Given the description of an element on the screen output the (x, y) to click on. 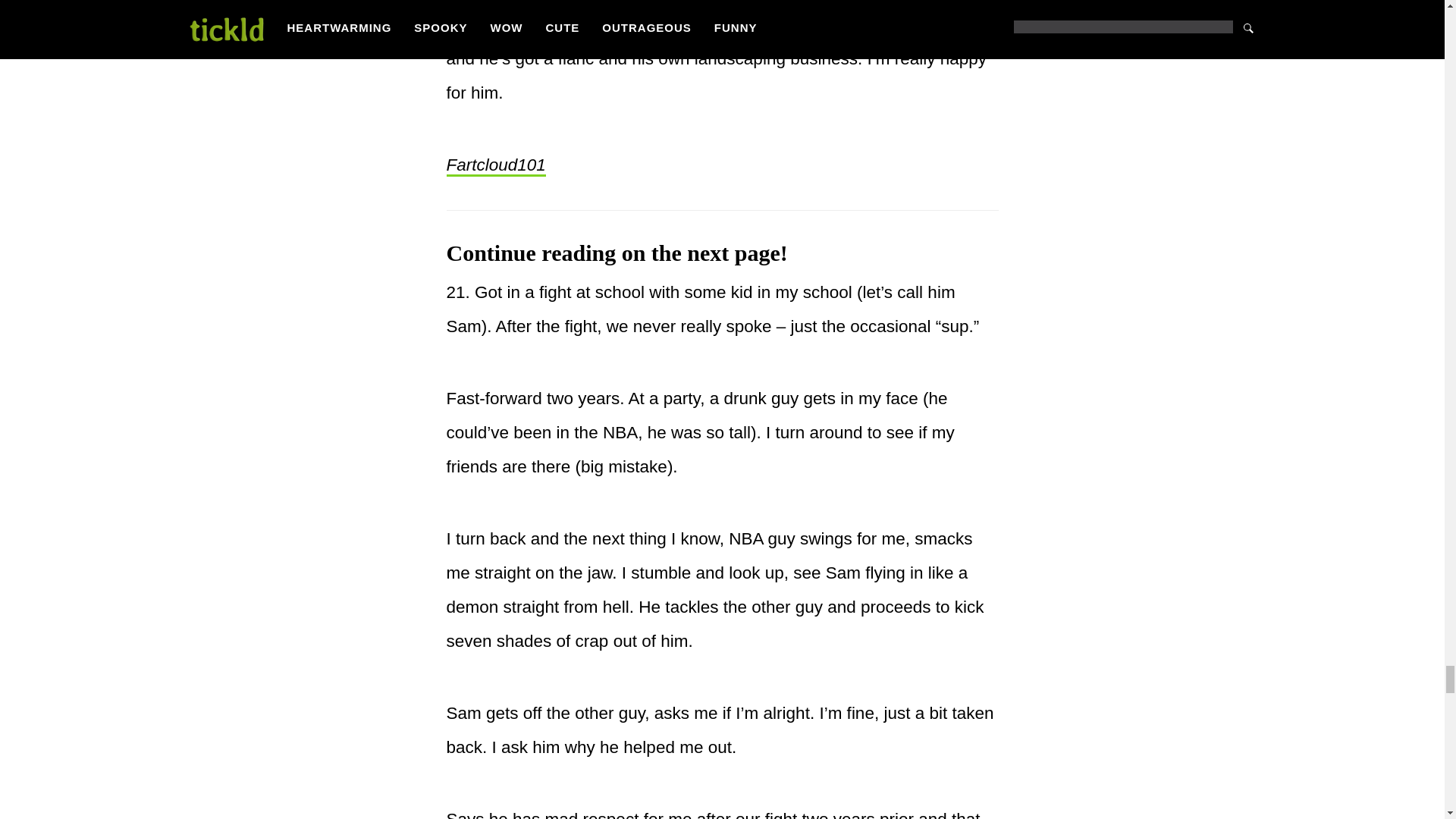
Fartcloud101 (494, 165)
